Given the description of an element on the screen output the (x, y) to click on. 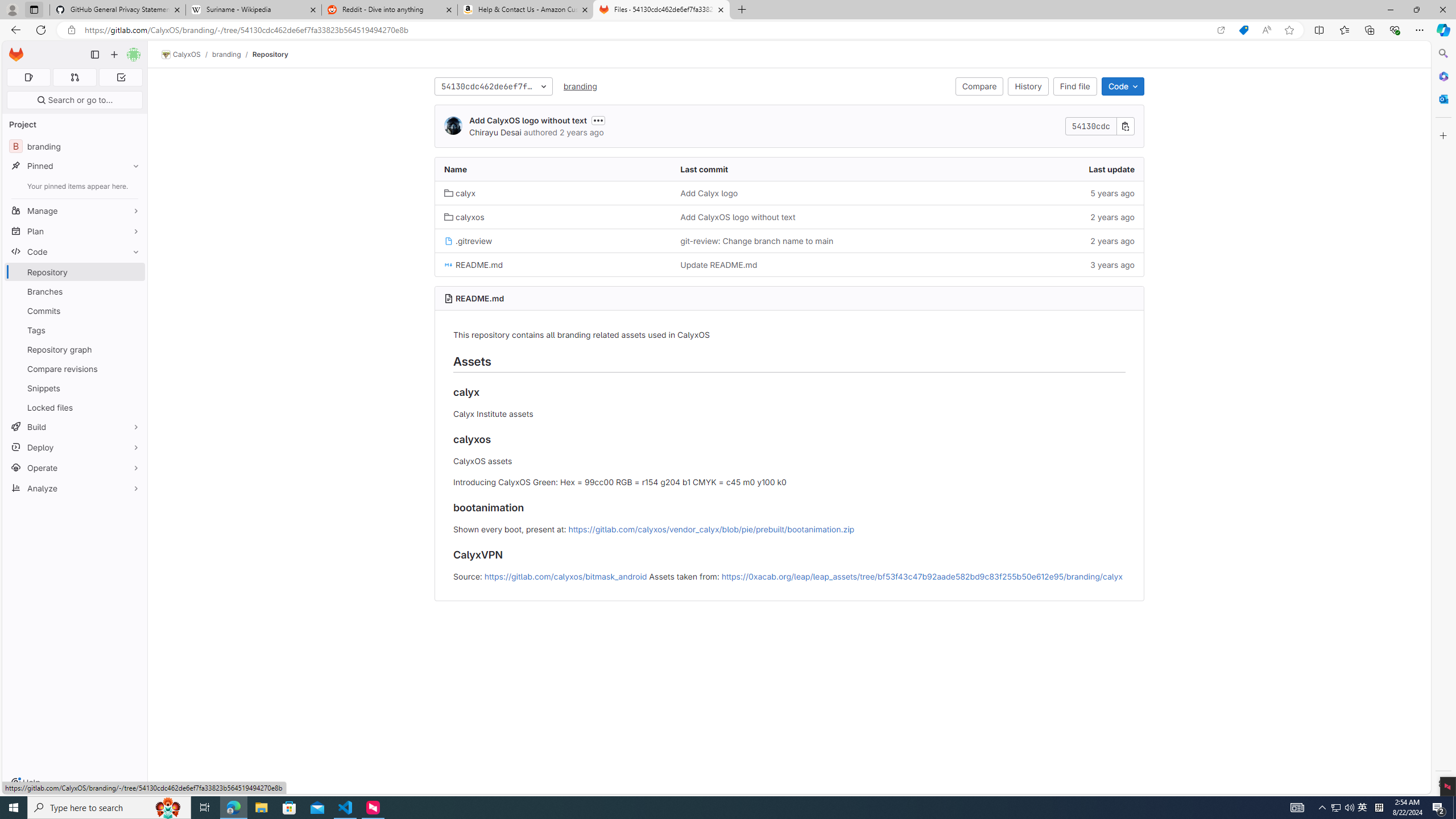
Add CalyxOS logo without text (736, 216)
CalyxOS (180, 54)
Toggle commit description (598, 120)
History (1027, 85)
Add Calyx logo (789, 192)
Manage (74, 210)
Skip to main content (13, 49)
Suriname - Wikipedia (253, 9)
Plan (74, 230)
Manage (74, 210)
Build (74, 426)
Tags (74, 330)
Reddit - Dive into anything (390, 9)
Build (74, 426)
Commits (74, 310)
